Given the description of an element on the screen output the (x, y) to click on. 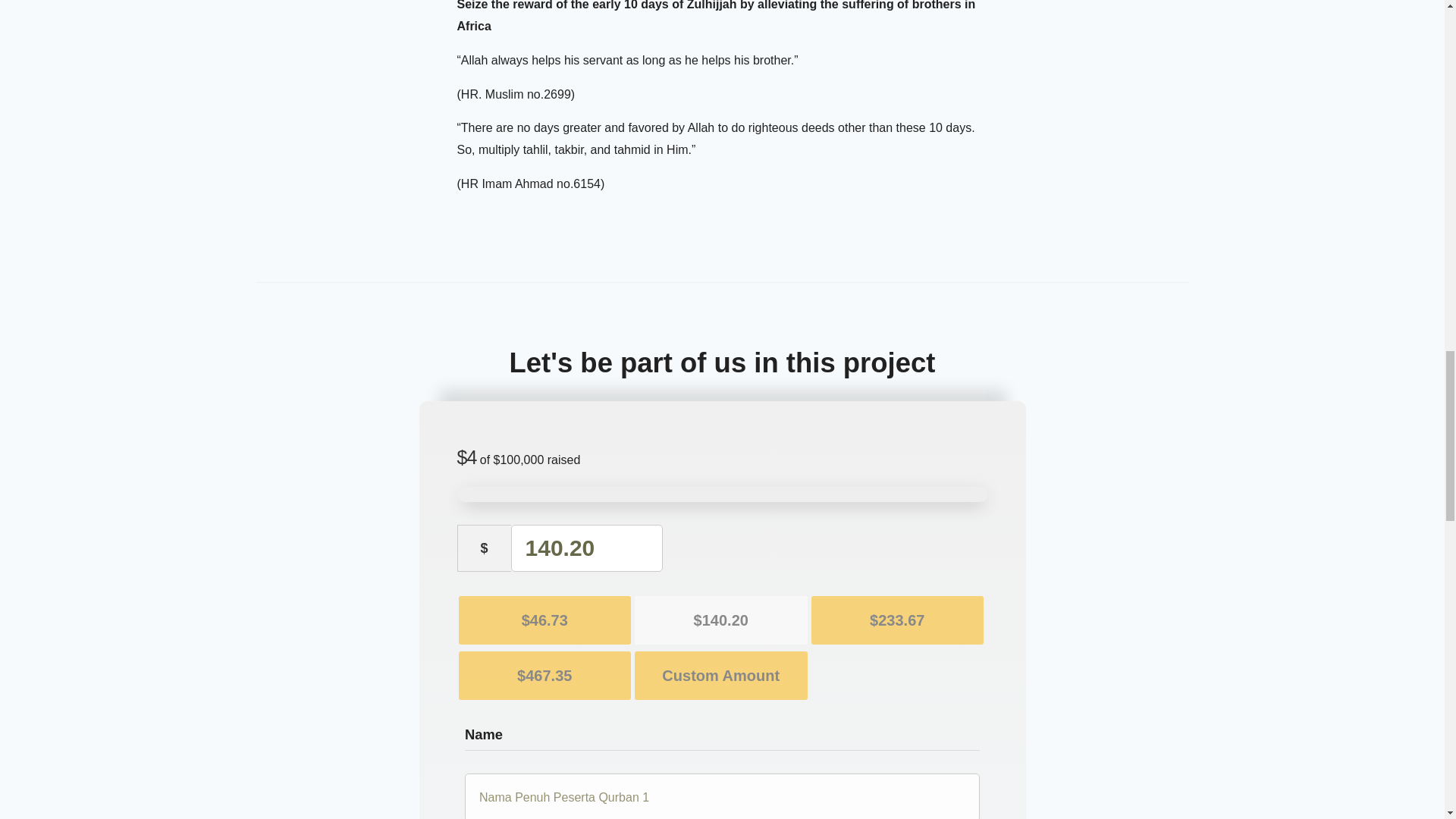
Custom Amount (721, 675)
140.20 (586, 547)
